Given the description of an element on the screen output the (x, y) to click on. 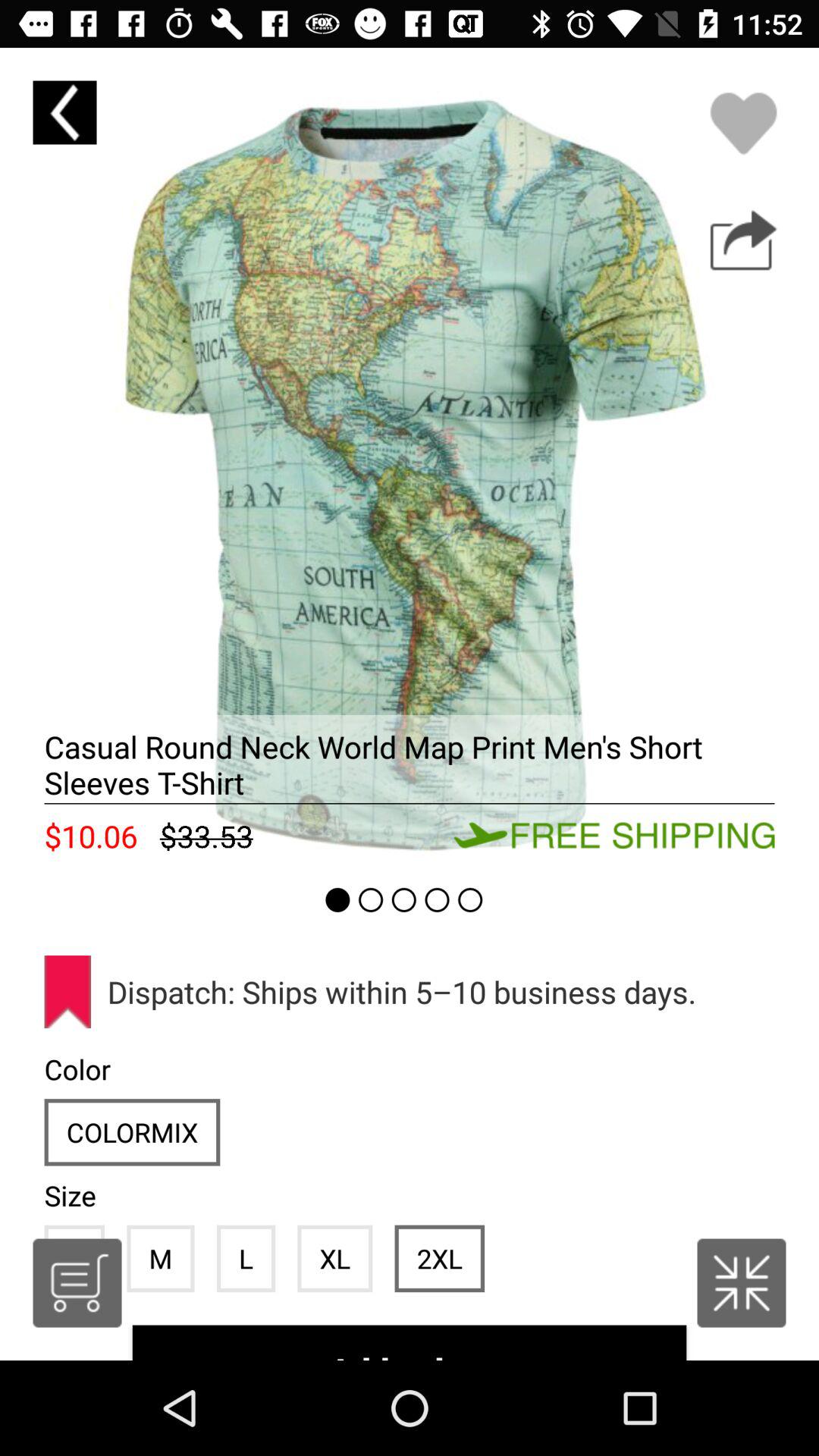
turn off item to the left of l (160, 1258)
